Given the description of an element on the screen output the (x, y) to click on. 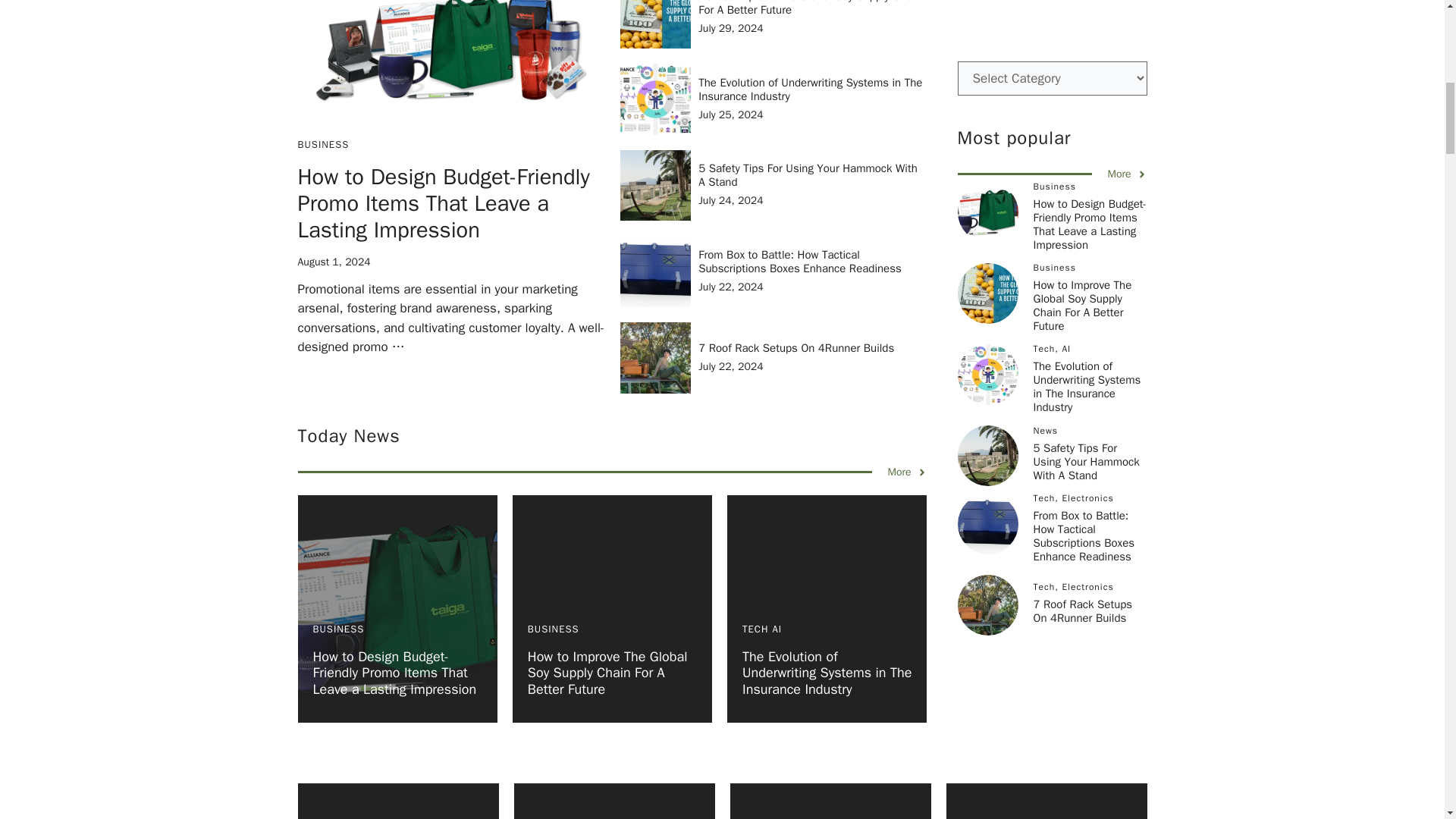
BUSINESS (323, 144)
7 Roof Rack Setups On 4Runner Builds (795, 347)
BUSINESS (338, 628)
BUSINESS (553, 628)
5 Safety Tips For Using Your Hammock With A Stand (807, 175)
More (906, 471)
